Given the description of an element on the screen output the (x, y) to click on. 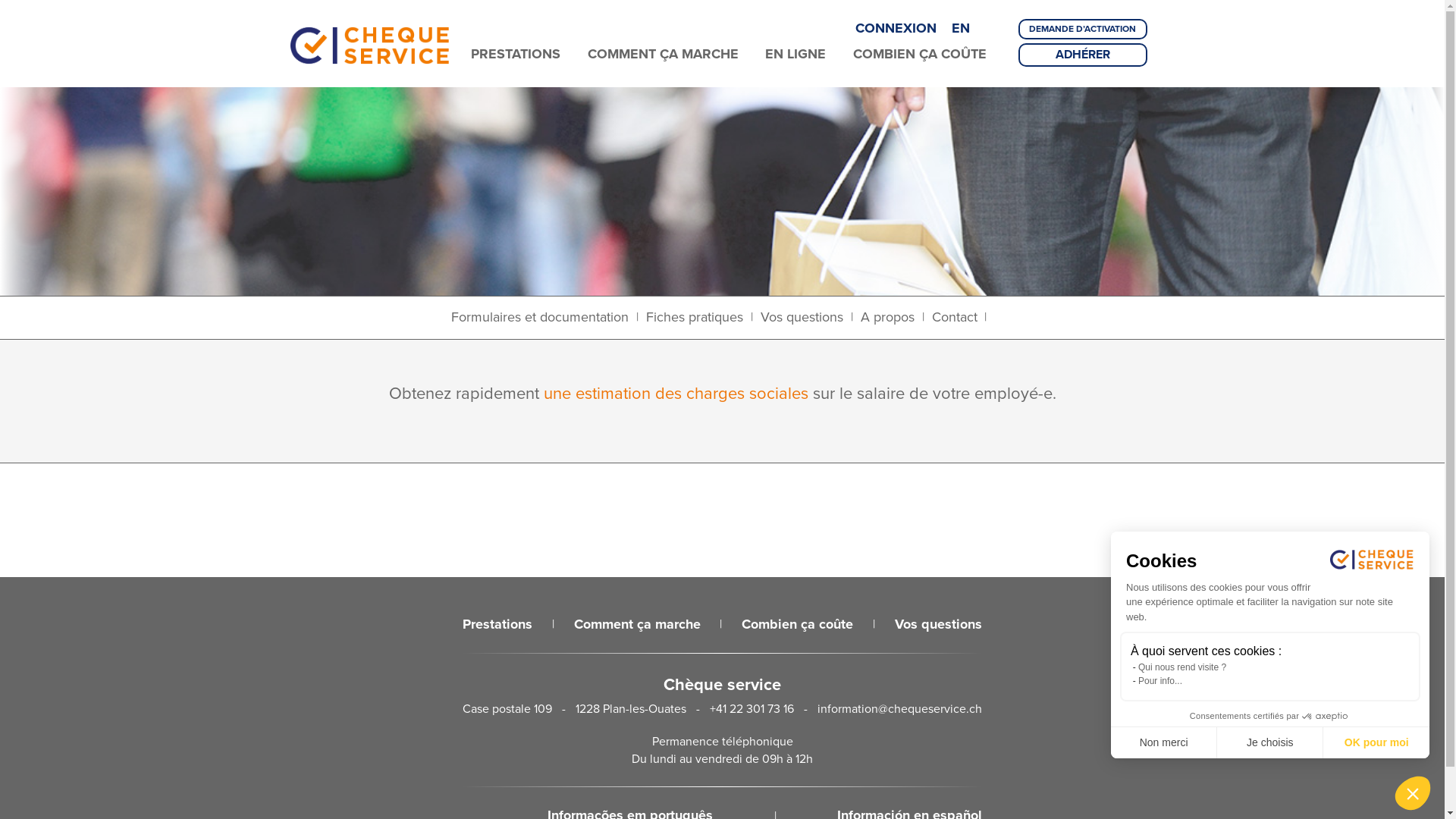
Fiches pratiques Element type: text (694, 317)
+41 22 301 73 16 Element type: text (751, 708)
Vos questions Element type: text (938, 624)
Prestations Element type: text (497, 624)
A propos Element type: text (887, 317)
information@chequeservice.ch Element type: text (899, 708)
Contact Element type: text (953, 317)
CONNEXION Element type: text (897, 27)
EN Element type: text (959, 27)
EN LIGNE Element type: text (795, 54)
Vos questions Element type: text (801, 317)
Formulaires et documentation Element type: text (539, 317)
une estimation des charges sociales Element type: text (674, 392)
PRESTATIONS Element type: text (515, 54)
